Given the description of an element on the screen output the (x, y) to click on. 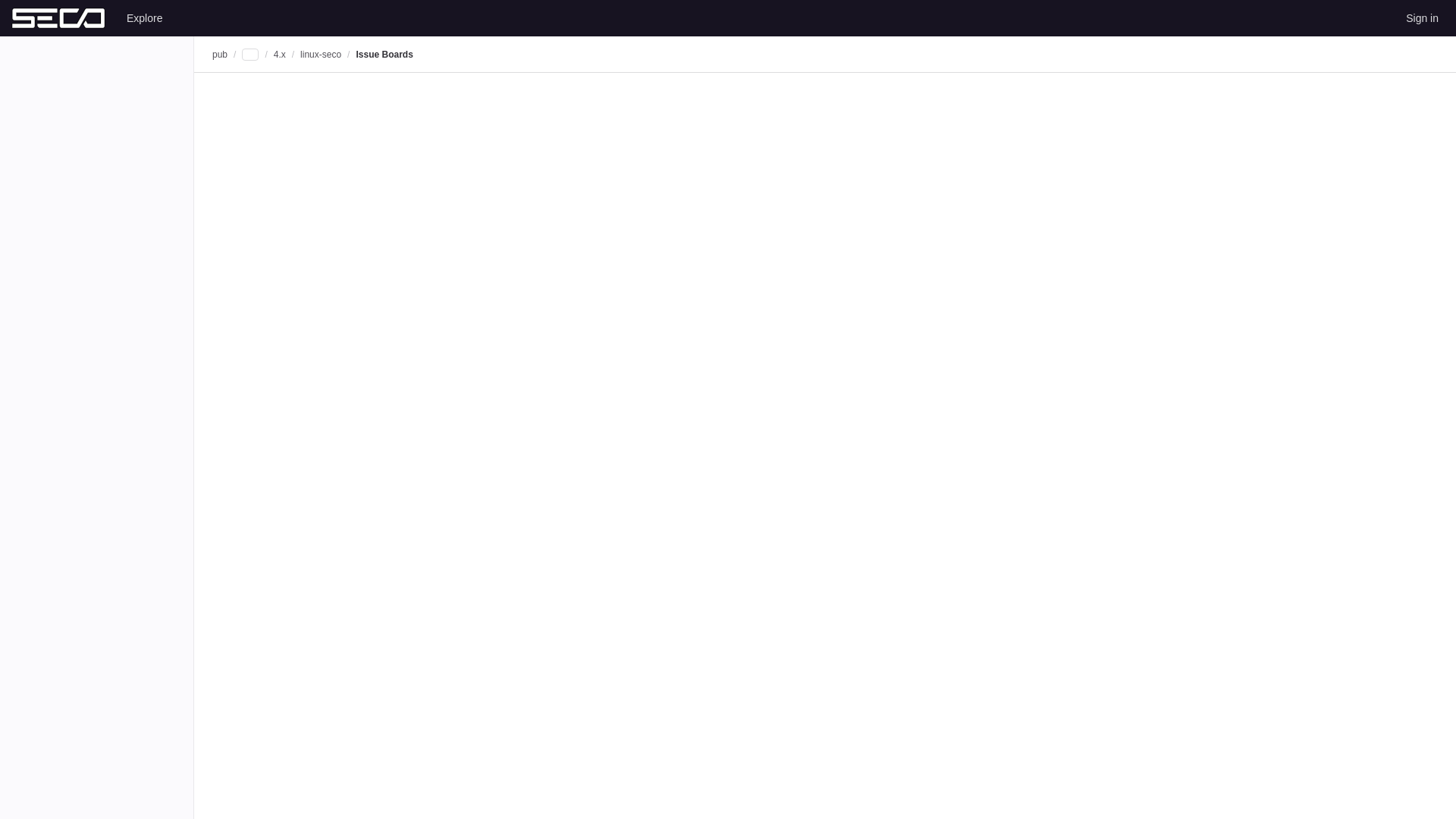
Sign in (1421, 17)
linux-seco (319, 54)
4.x (279, 54)
Show all breadcrumbs (250, 54)
Explore (144, 17)
Issue Boards (383, 54)
Homepage (57, 17)
pub (219, 54)
